Given the description of an element on the screen output the (x, y) to click on. 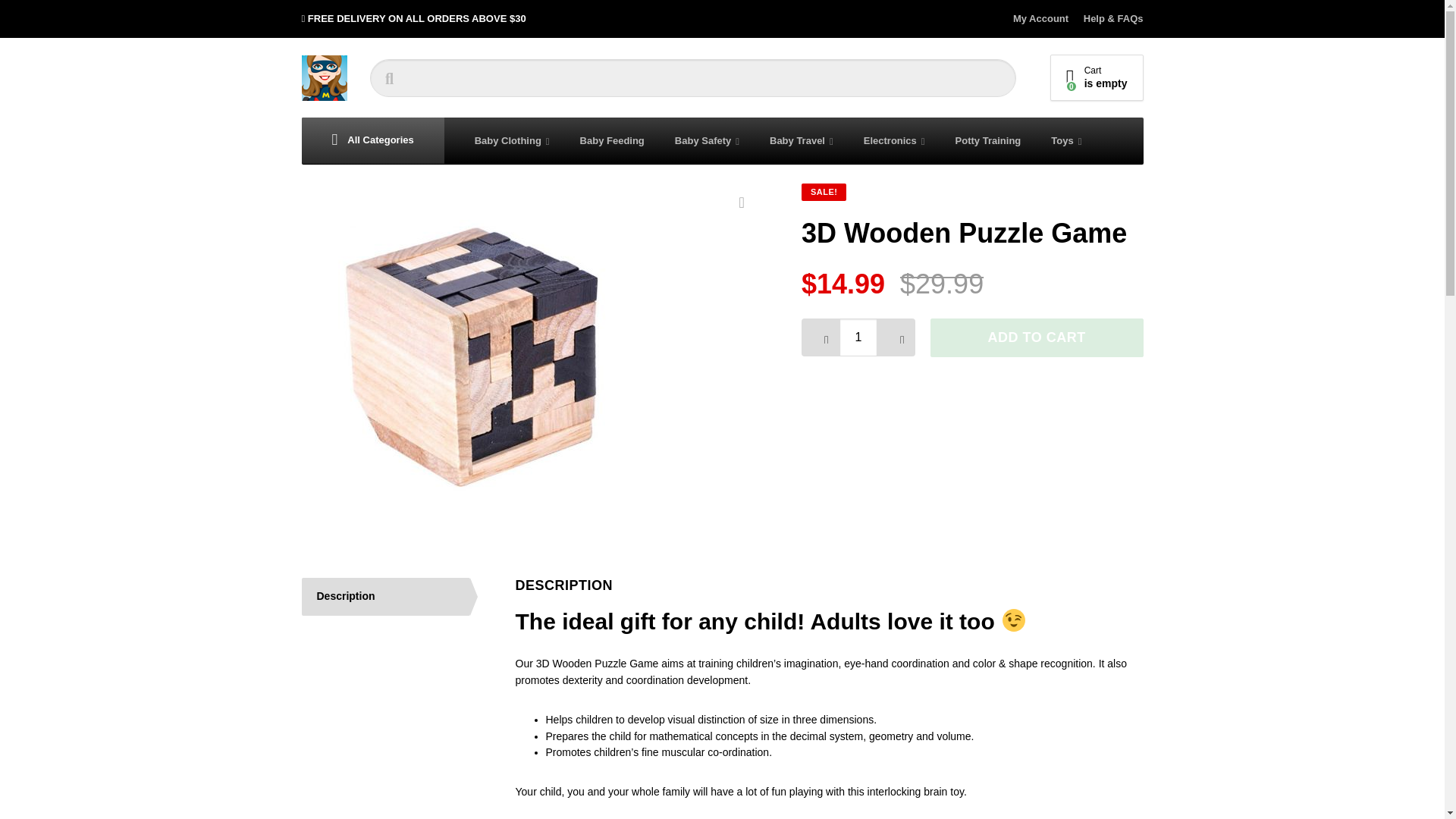
Toys (1065, 140)
Baby Safety (706, 140)
3D Wooden Tetris Puzzle Game (467, 349)
Electronics (894, 140)
Baby Clothing (512, 140)
Potty Training (988, 140)
Baby Feeding (611, 140)
1 (858, 337)
My Account (1043, 18)
All Categories (372, 140)
Baby Travel (1096, 77)
